Given the description of an element on the screen output the (x, y) to click on. 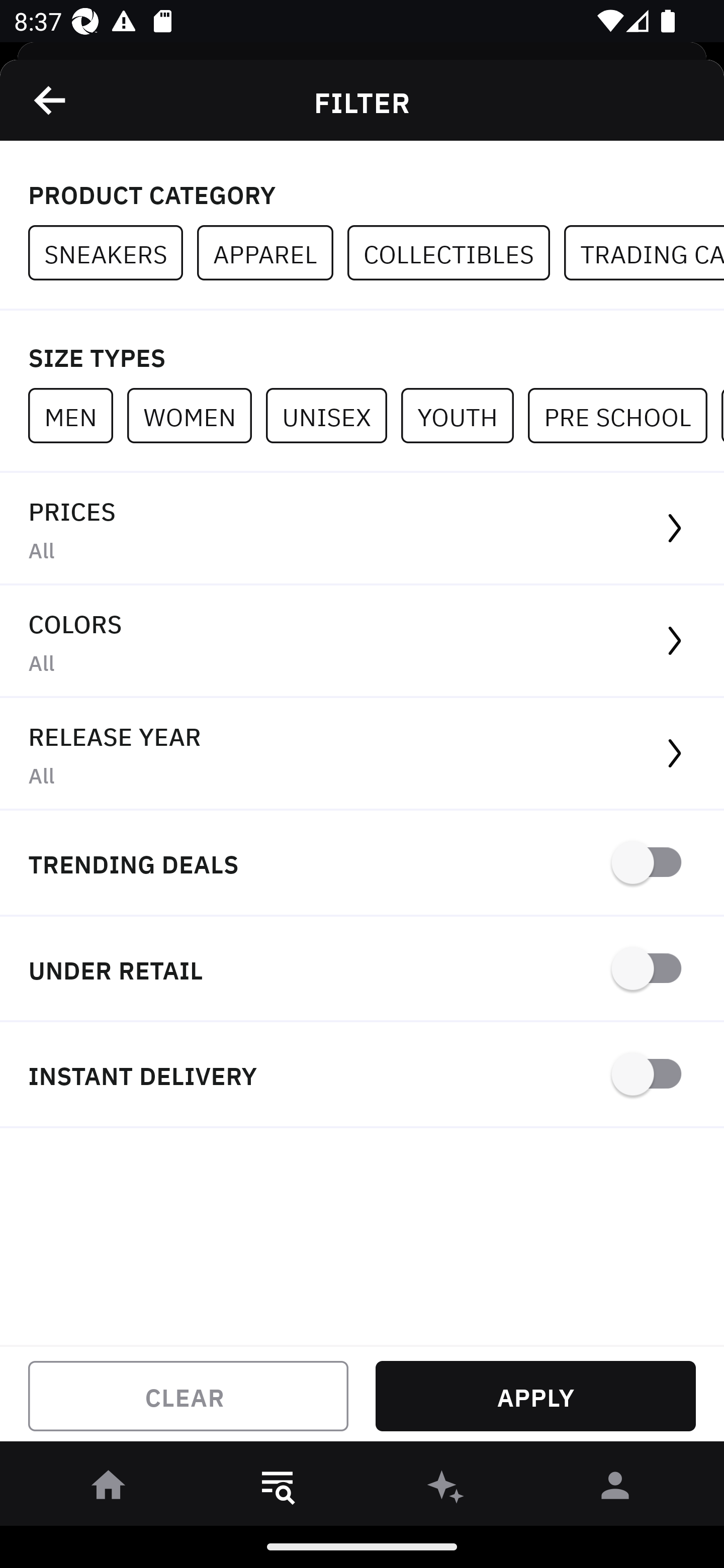
 (50, 100)
SNEAKERS (112, 252)
APPAREL (271, 252)
COLLECTIBLES (455, 252)
TRADING CARDS (643, 252)
MEN (77, 415)
WOMEN (196, 415)
UNISEX (333, 415)
YOUTH (464, 415)
PRE SCHOOL (624, 415)
PRICES All (362, 528)
COLORS All (362, 640)
RELEASE YEAR All (362, 753)
TRENDING DEALS (362, 863)
UNDER RETAIL (362, 969)
INSTANT DELIVERY (362, 1075)
CLEAR  (188, 1396)
APPLY (535, 1396)
󰋜 (108, 1488)
󱎸 (277, 1488)
󰫢 (446, 1488)
󰀄 (615, 1488)
